Given the description of an element on the screen output the (x, y) to click on. 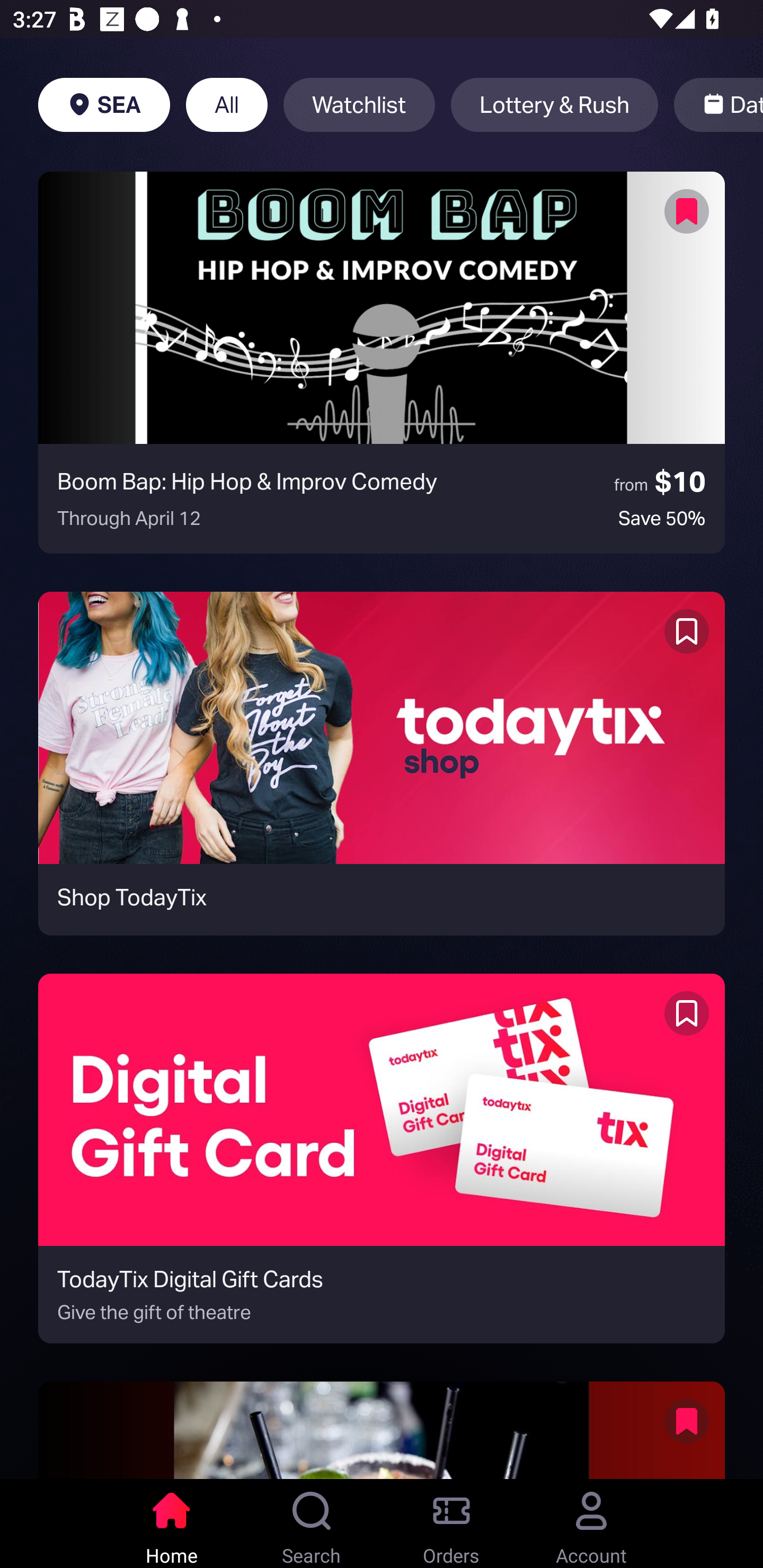
SEA (104, 104)
All (226, 104)
Watchlist (358, 104)
Lottery & Rush (553, 104)
Shop TodayTix (381, 763)
Search (311, 1523)
Orders (451, 1523)
Account (591, 1523)
